Given the description of an element on the screen output the (x, y) to click on. 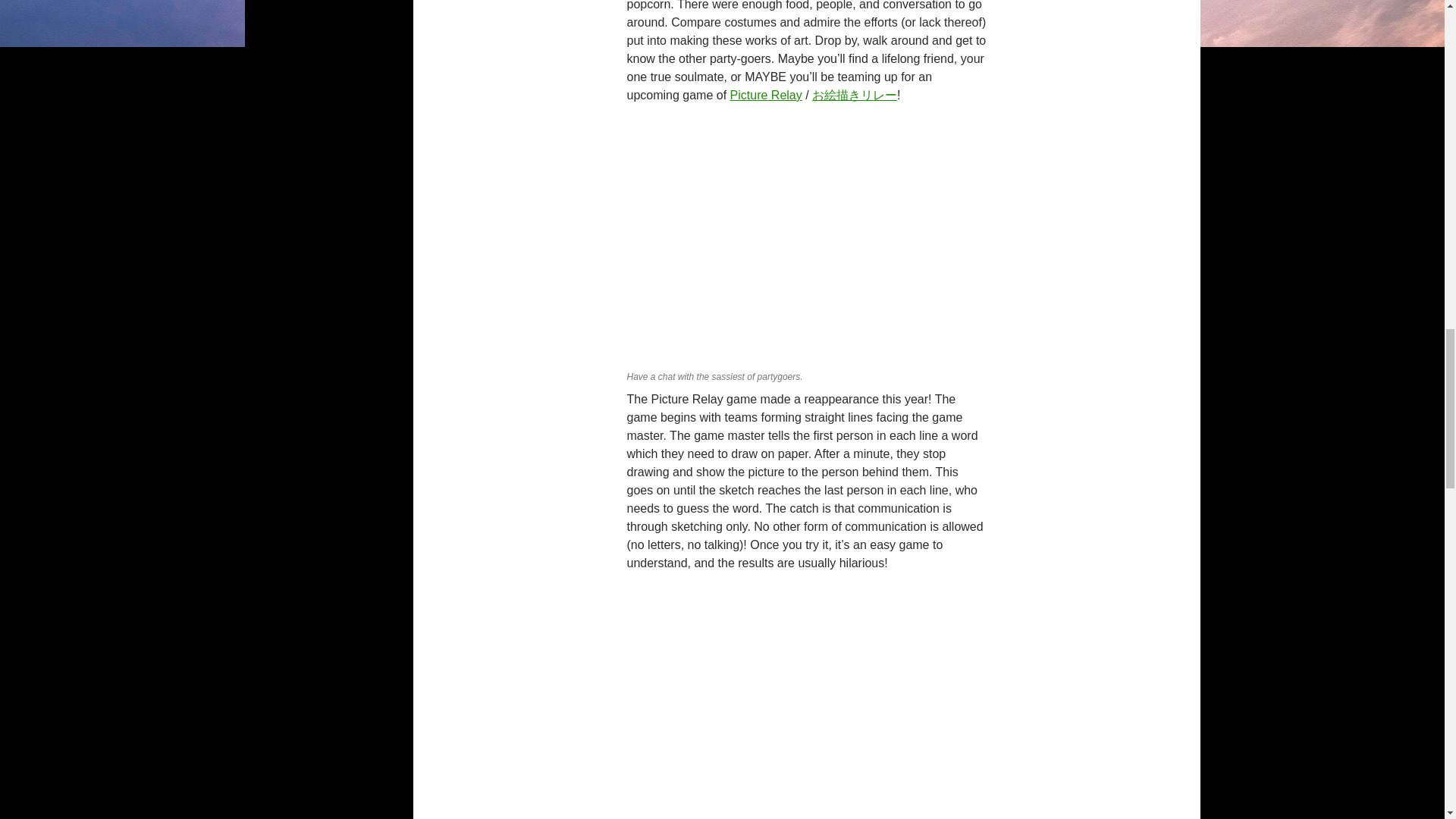
Picture Relay (766, 94)
